Given the description of an element on the screen output the (x, y) to click on. 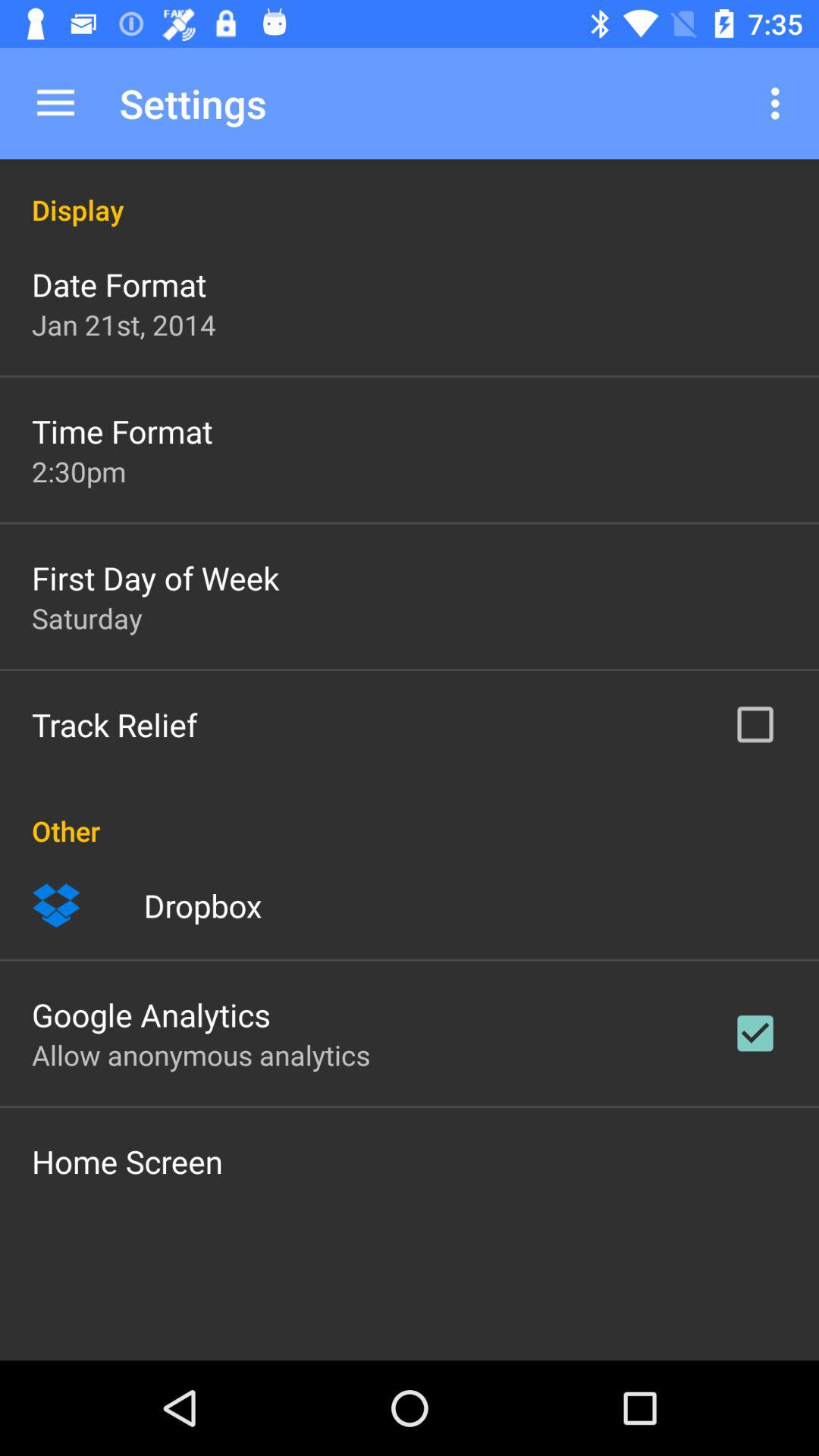
turn off app above google analytics icon (202, 905)
